Given the description of an element on the screen output the (x, y) to click on. 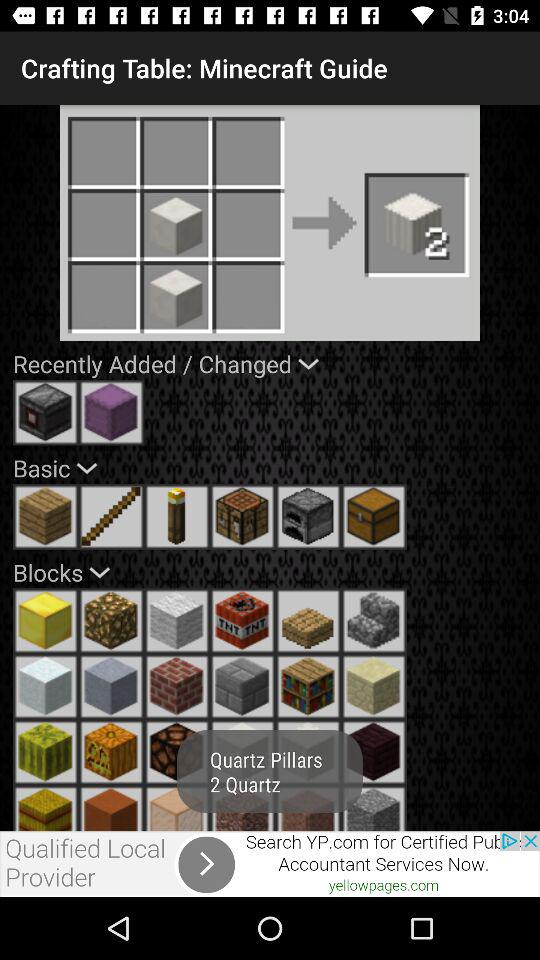
click on the cube (111, 808)
